Given the description of an element on the screen output the (x, y) to click on. 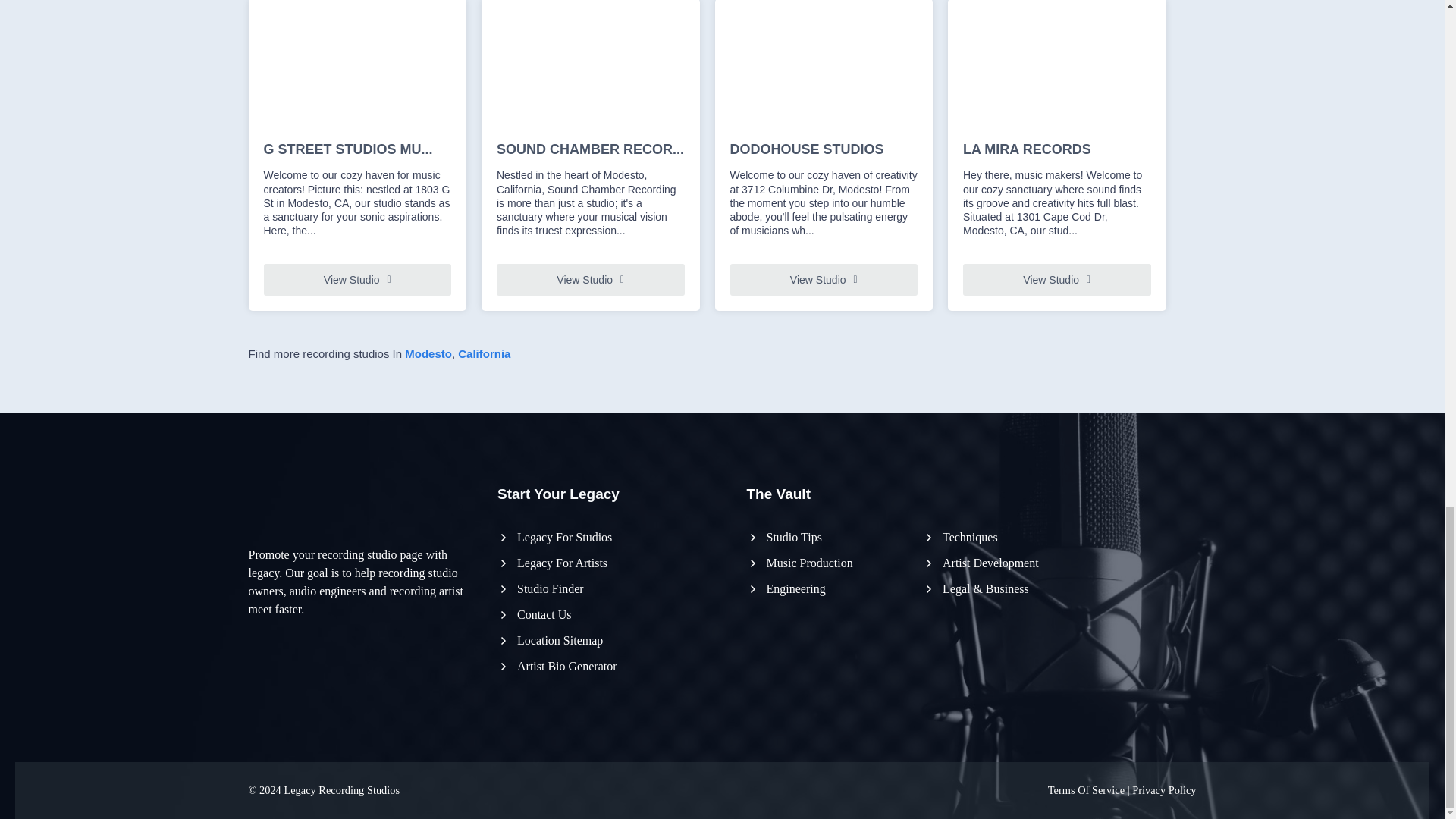
View Studio (357, 279)
G STREET STUDIOS MU... (357, 150)
SOUND CHAMBER RECOR... (590, 150)
DODOHOUSE STUDIOS (823, 150)
Legacy For Studios (554, 537)
Studio Finder (540, 588)
View Studio (823, 279)
Legacy For Artists (552, 563)
View Studio (1056, 279)
LA MIRA RECORDS (1056, 150)
California (484, 353)
View Studio (590, 279)
Contact Us (534, 615)
Modesto (427, 353)
